Given the description of an element on the screen output the (x, y) to click on. 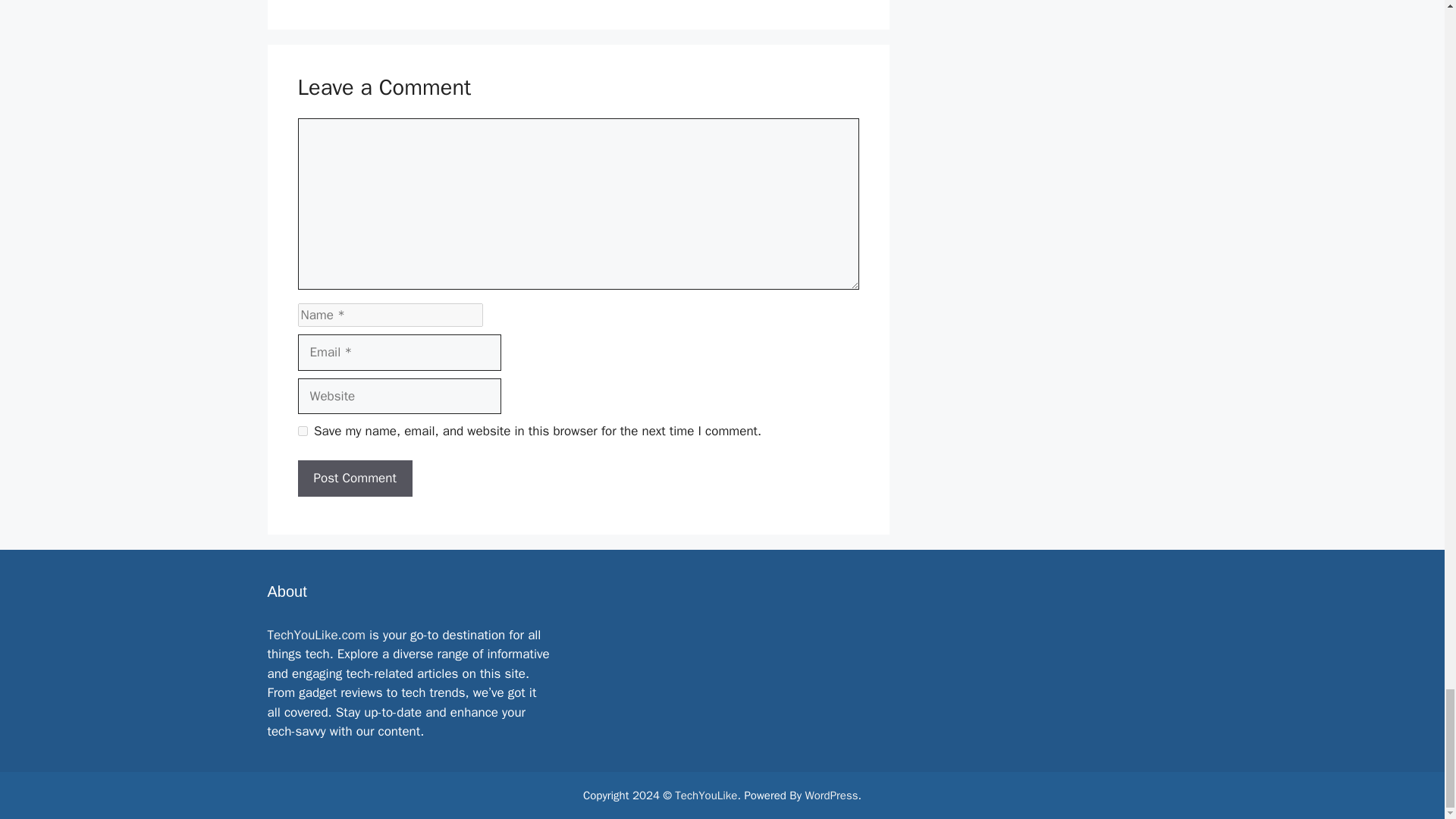
WordPress (831, 795)
Post Comment (354, 478)
TechYouLike (705, 795)
TechYouLike.com (315, 634)
Post Comment (354, 478)
yes (302, 430)
